Given the description of an element on the screen output the (x, y) to click on. 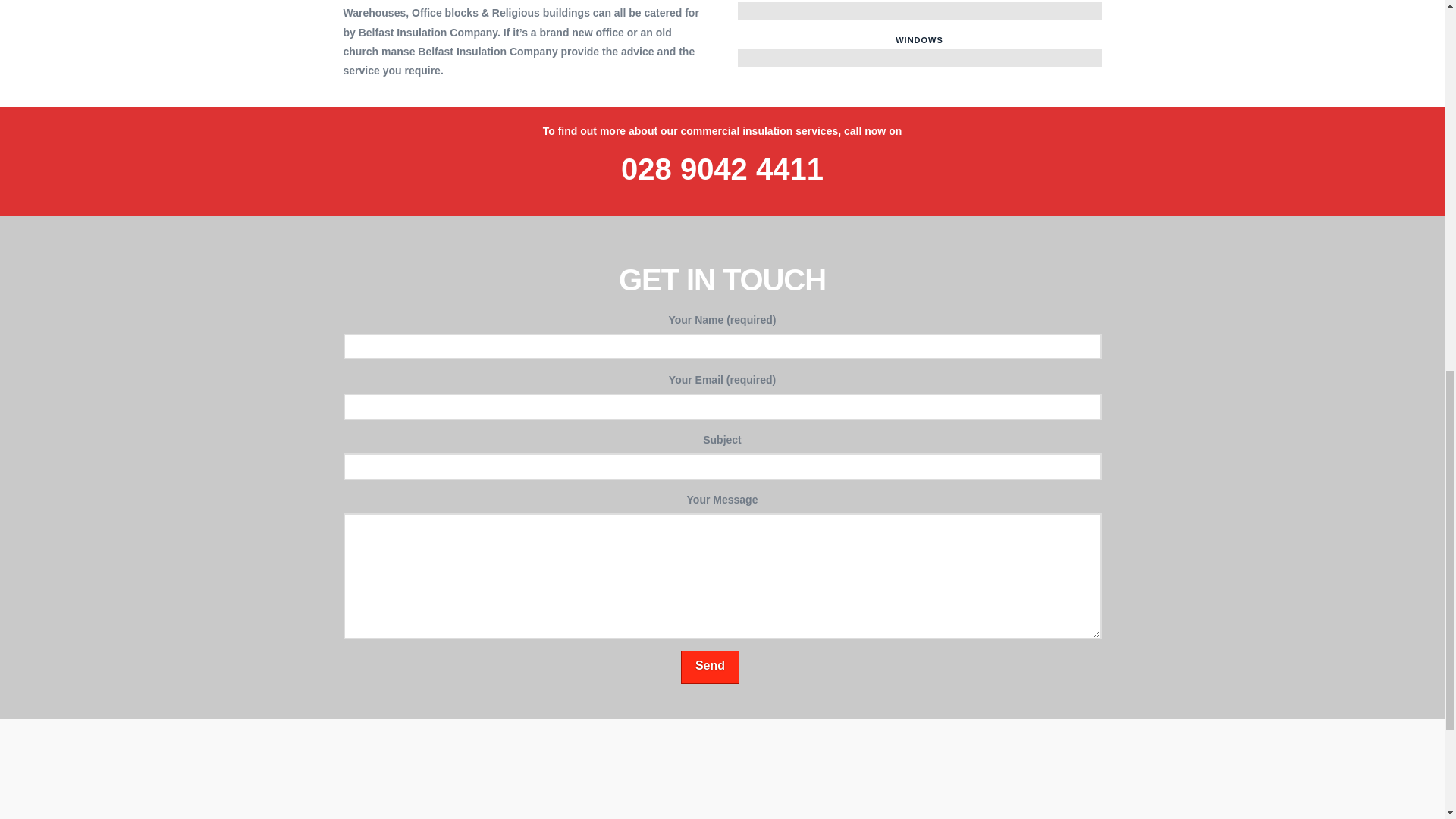
Send (710, 667)
Send (710, 667)
